Given the description of an element on the screen output the (x, y) to click on. 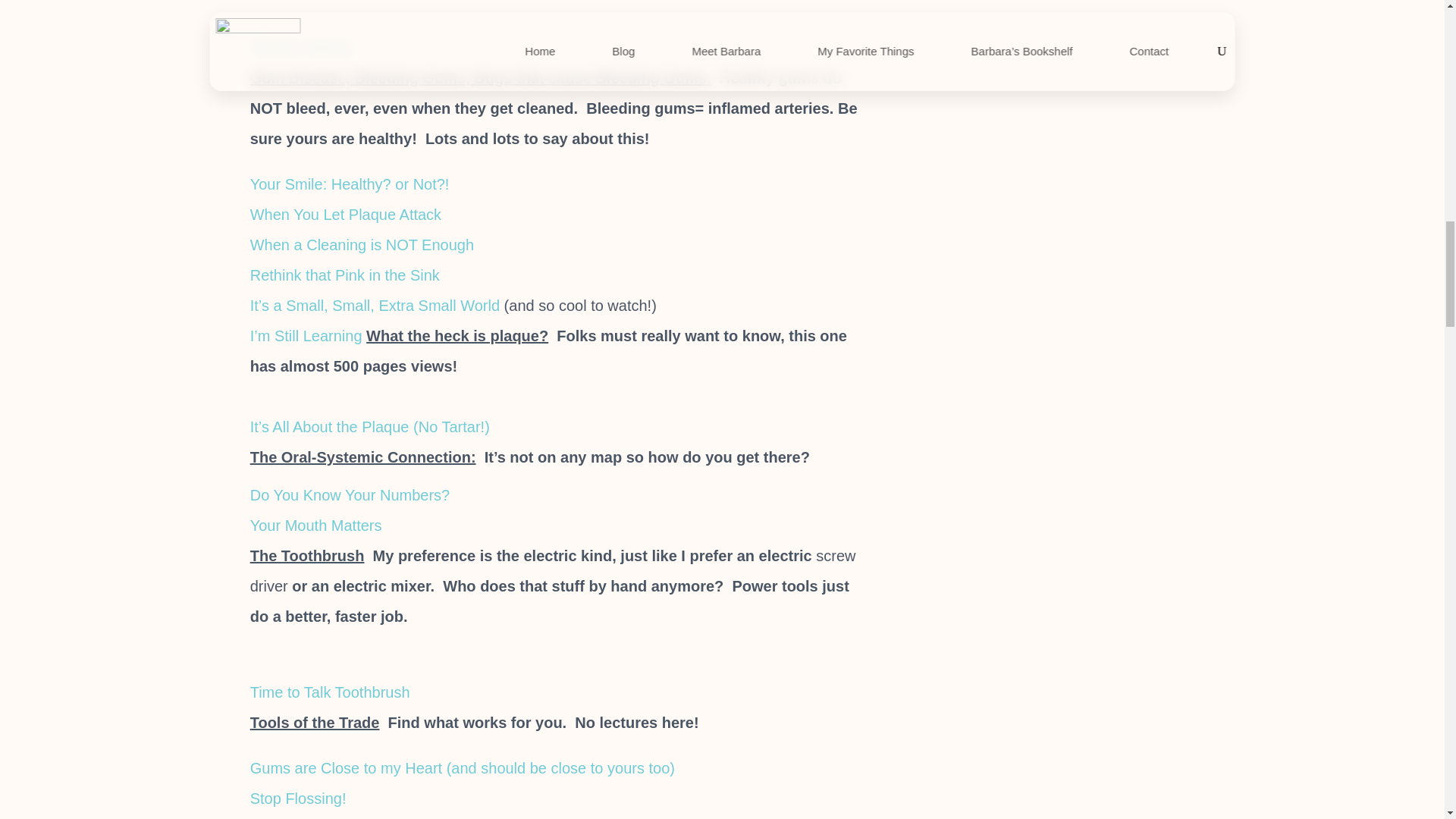
Tongue Talking (300, 47)
When You Let Plaque Attack (345, 214)
Rethink that Pink in the Sink (344, 274)
Your Smile: Healthy? or Not?!  (351, 184)
When a Cleaning is NOT Enough (362, 244)
